Given the description of an element on the screen output the (x, y) to click on. 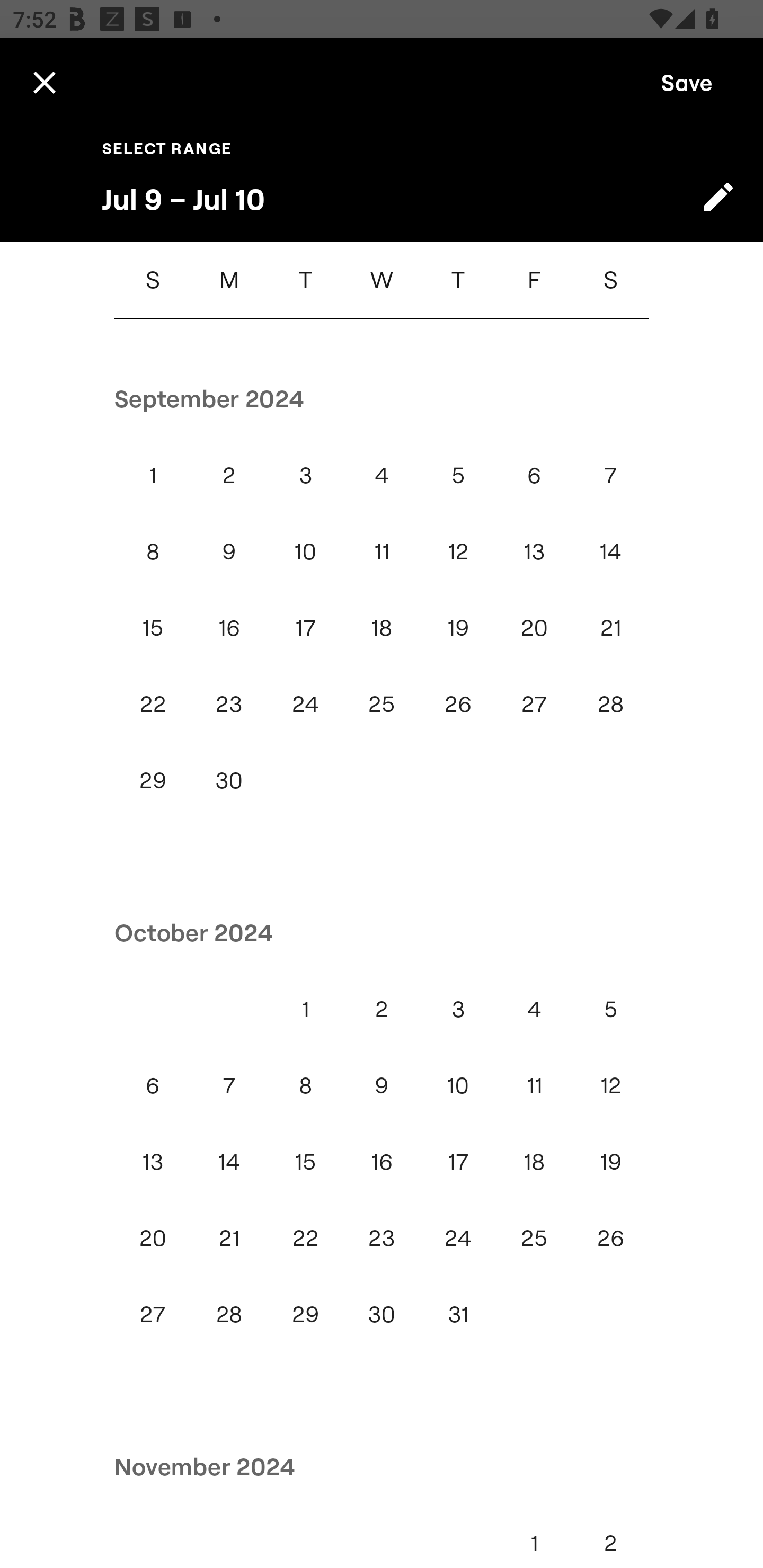
Cancel (44, 81)
Save (686, 81)
Switch to text input mode (718, 196)
1 Sun, Sep 1 (152, 474)
2 Mon, Sep 2 (228, 474)
3 Tue, Sep 3 (305, 474)
4 Wed, Sep 4 (381, 474)
5 Thu, Sep 5 (457, 474)
6 Fri, Sep 6 (533, 474)
7 Sat, Sep 7 (610, 474)
8 Sun, Sep 8 (152, 550)
9 Mon, Sep 9 (228, 550)
10 Tue, Sep 10 (305, 550)
11 Wed, Sep 11 (381, 550)
12 Thu, Sep 12 (457, 550)
13 Fri, Sep 13 (533, 550)
14 Sat, Sep 14 (610, 550)
15 Sun, Sep 15 (152, 627)
16 Mon, Sep 16 (228, 627)
17 Tue, Sep 17 (305, 627)
18 Wed, Sep 18 (381, 627)
19 Thu, Sep 19 (457, 627)
20 Fri, Sep 20 (533, 627)
21 Sat, Sep 21 (610, 627)
22 Sun, Sep 22 (152, 703)
23 Mon, Sep 23 (228, 703)
24 Tue, Sep 24 (305, 703)
25 Wed, Sep 25 (381, 703)
26 Thu, Sep 26 (457, 703)
27 Fri, Sep 27 (533, 703)
28 Sat, Sep 28 (610, 703)
29 Sun, Sep 29 (152, 779)
30 Mon, Sep 30 (228, 779)
1 Tue, Oct 1 (305, 1008)
2 Wed, Oct 2 (381, 1008)
3 Thu, Oct 3 (457, 1008)
4 Fri, Oct 4 (533, 1008)
5 Sat, Oct 5 (610, 1008)
6 Sun, Oct 6 (152, 1085)
7 Mon, Oct 7 (228, 1085)
8 Tue, Oct 8 (305, 1085)
9 Wed, Oct 9 (381, 1085)
10 Thu, Oct 10 (457, 1085)
11 Fri, Oct 11 (533, 1085)
12 Sat, Oct 12 (610, 1085)
13 Sun, Oct 13 (152, 1161)
14 Mon, Oct 14 (228, 1161)
15 Tue, Oct 15 (305, 1161)
16 Wed, Oct 16 (381, 1161)
17 Thu, Oct 17 (457, 1161)
18 Fri, Oct 18 (533, 1161)
19 Sat, Oct 19 (610, 1161)
20 Sun, Oct 20 (152, 1237)
21 Mon, Oct 21 (228, 1237)
22 Tue, Oct 22 (305, 1237)
23 Wed, Oct 23 (381, 1237)
24 Thu, Oct 24 (457, 1237)
25 Fri, Oct 25 (533, 1237)
26 Sat, Oct 26 (610, 1237)
27 Sun, Oct 27 (152, 1313)
28 Mon, Oct 28 (228, 1313)
29 Tue, Oct 29 (305, 1313)
30 Wed, Oct 30 (381, 1313)
31 Thu, Oct 31 (457, 1313)
1 Fri, Nov 1 (533, 1536)
2 Sat, Nov 2 (610, 1536)
